Given the description of an element on the screen output the (x, y) to click on. 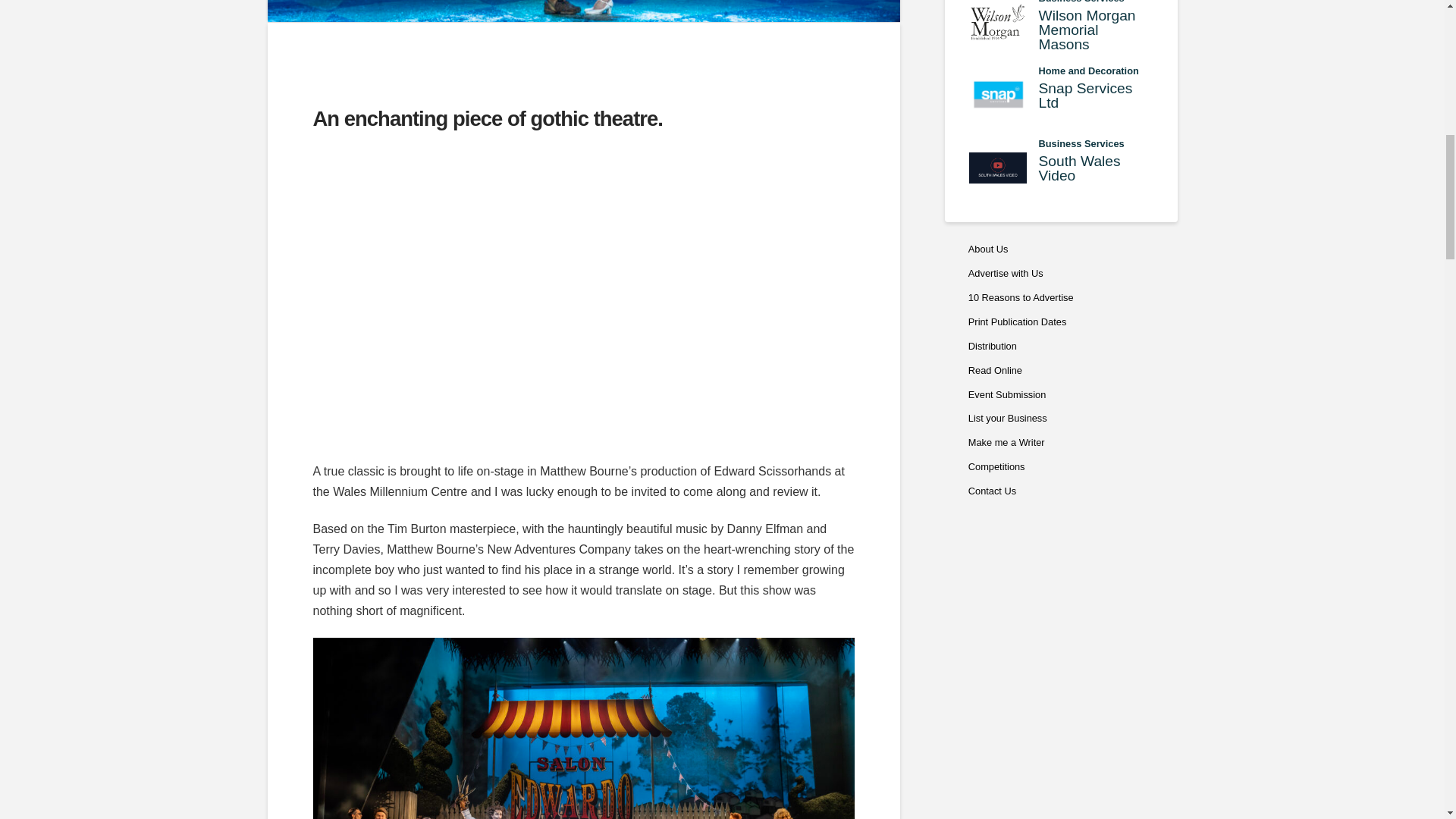
About Us (1061, 167)
